Given the description of an element on the screen output the (x, y) to click on. 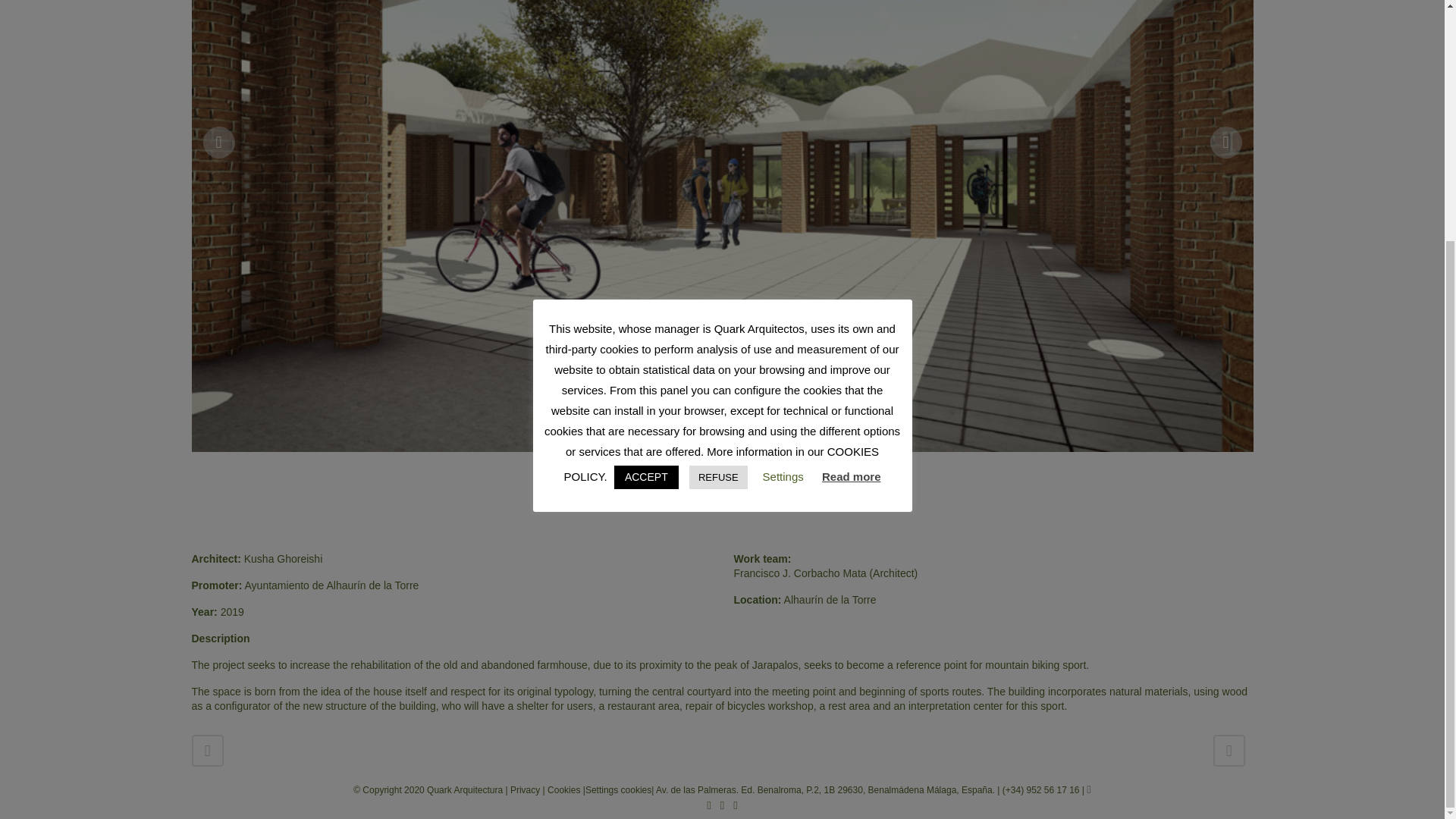
2 (722, 492)
1 (707, 492)
ACCEPT (646, 145)
Settings cookies (617, 789)
Privacy (527, 789)
3 (736, 492)
Cookies (565, 789)
REFUSE (718, 145)
